Given the description of an element on the screen output the (x, y) to click on. 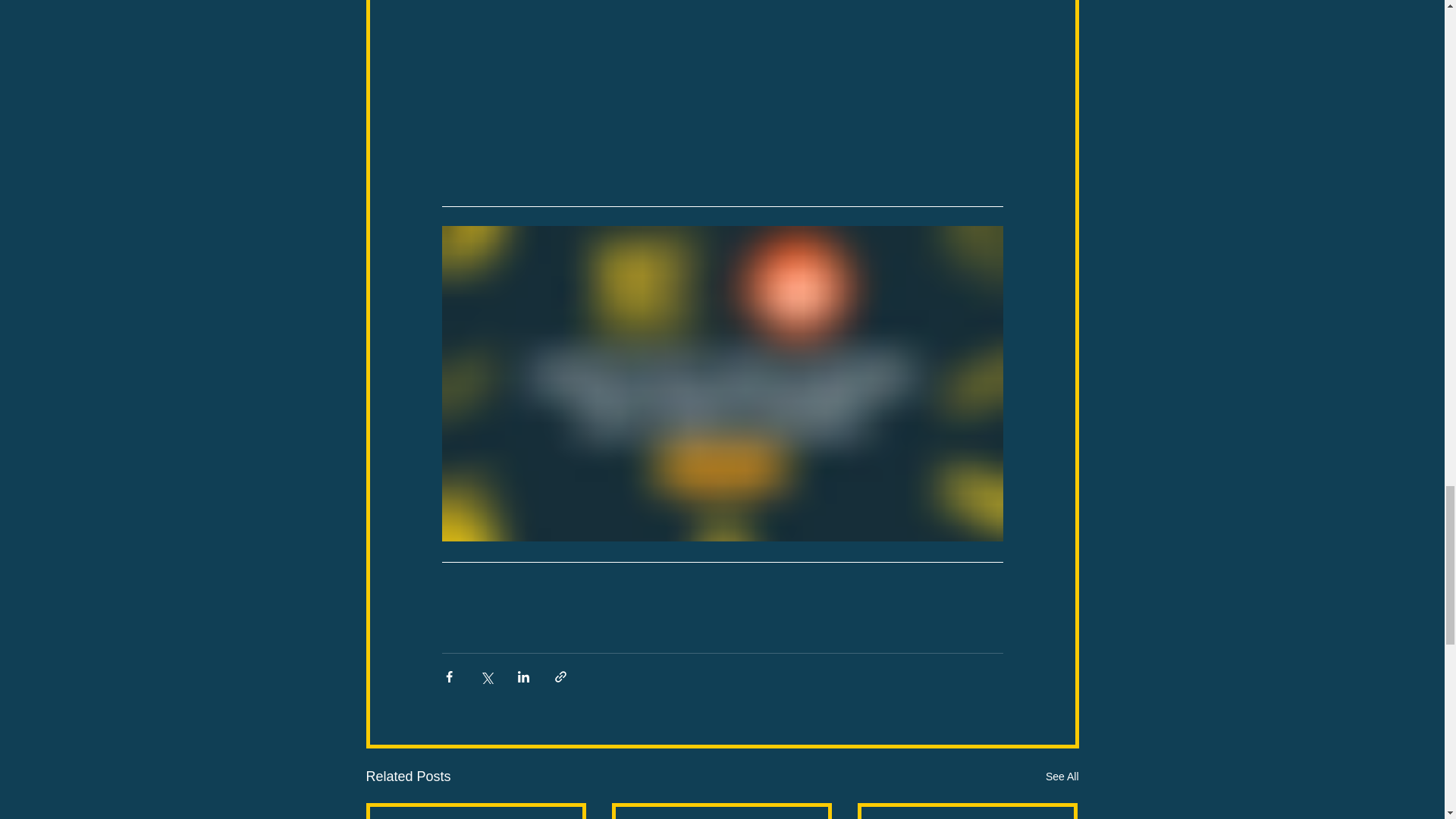
See All (1061, 776)
